Given the description of an element on the screen output the (x, y) to click on. 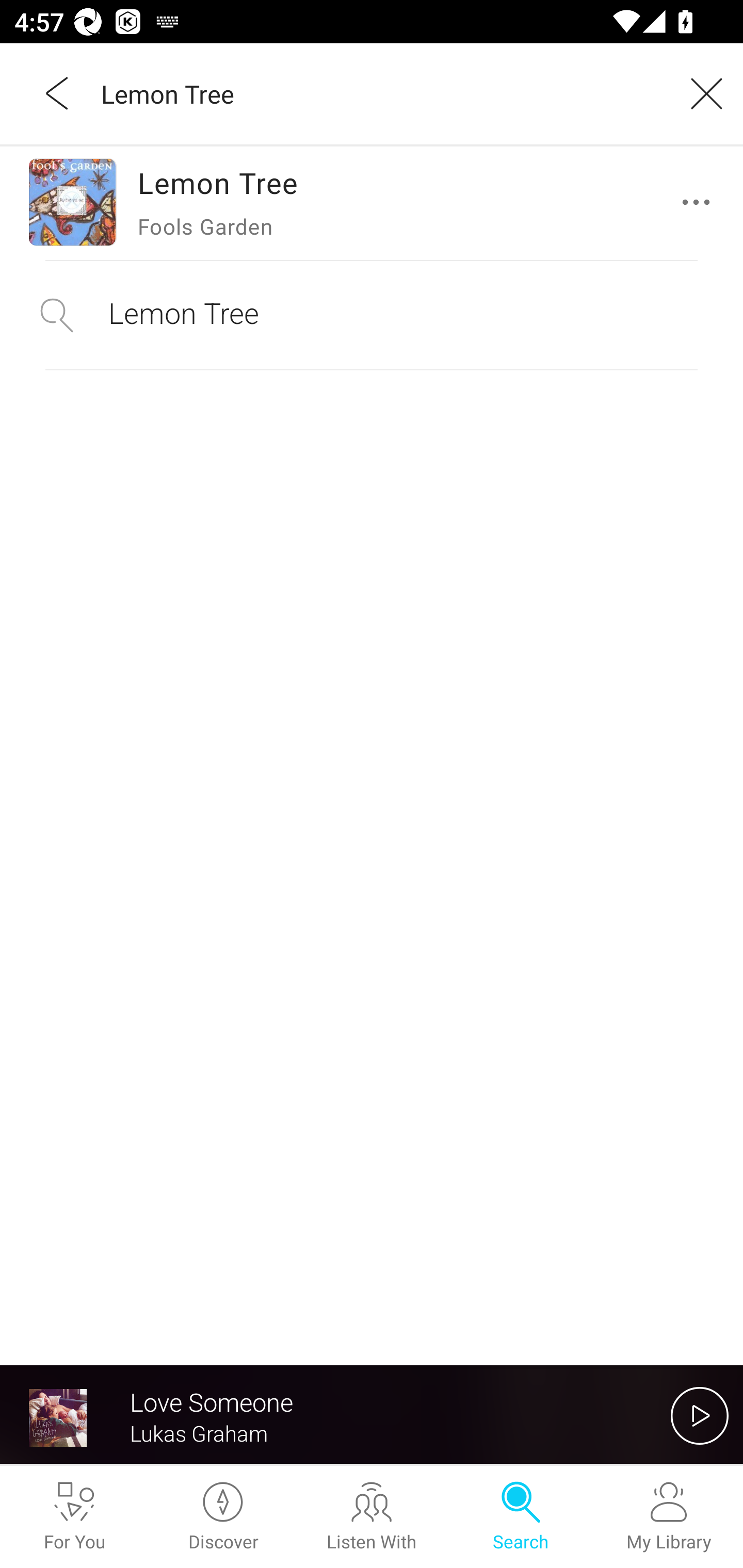
Lemon Tree (378, 92)
Clear query (699, 92)
Back,outside of the list (57, 93)
Search preview item Lemon Tree Fools Garden 更多操作選項 (371, 202)
更多操作選項 (699, 202)
Lemon Tree (371, 315)
開始播放 (699, 1415)
For You (74, 1517)
Discover (222, 1517)
Listen With (371, 1517)
Search (519, 1517)
My Library (668, 1517)
